Given the description of an element on the screen output the (x, y) to click on. 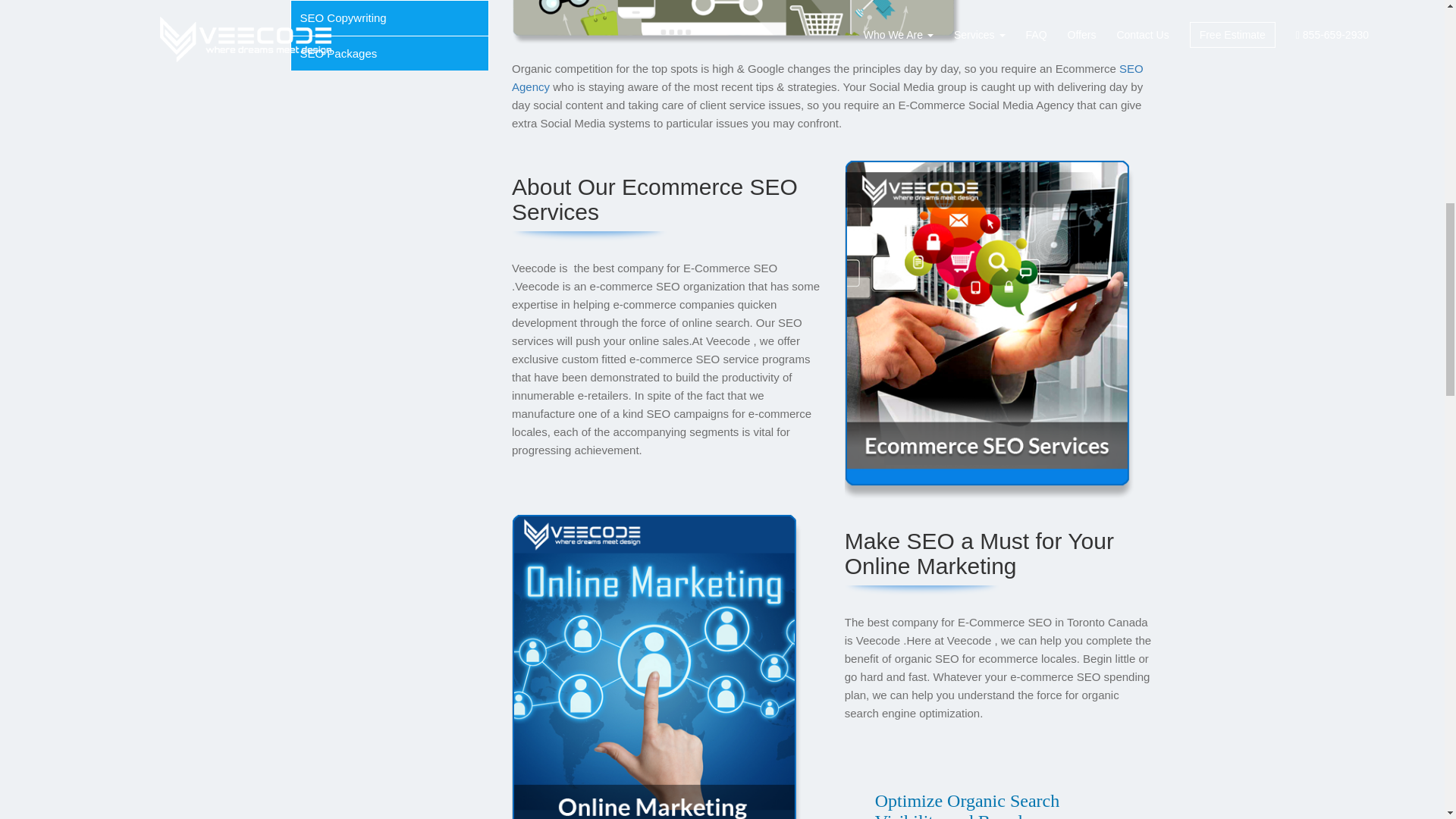
SEO Packages (338, 52)
SEO Agency (827, 77)
SEO Copywriting (343, 17)
